Given the description of an element on the screen output the (x, y) to click on. 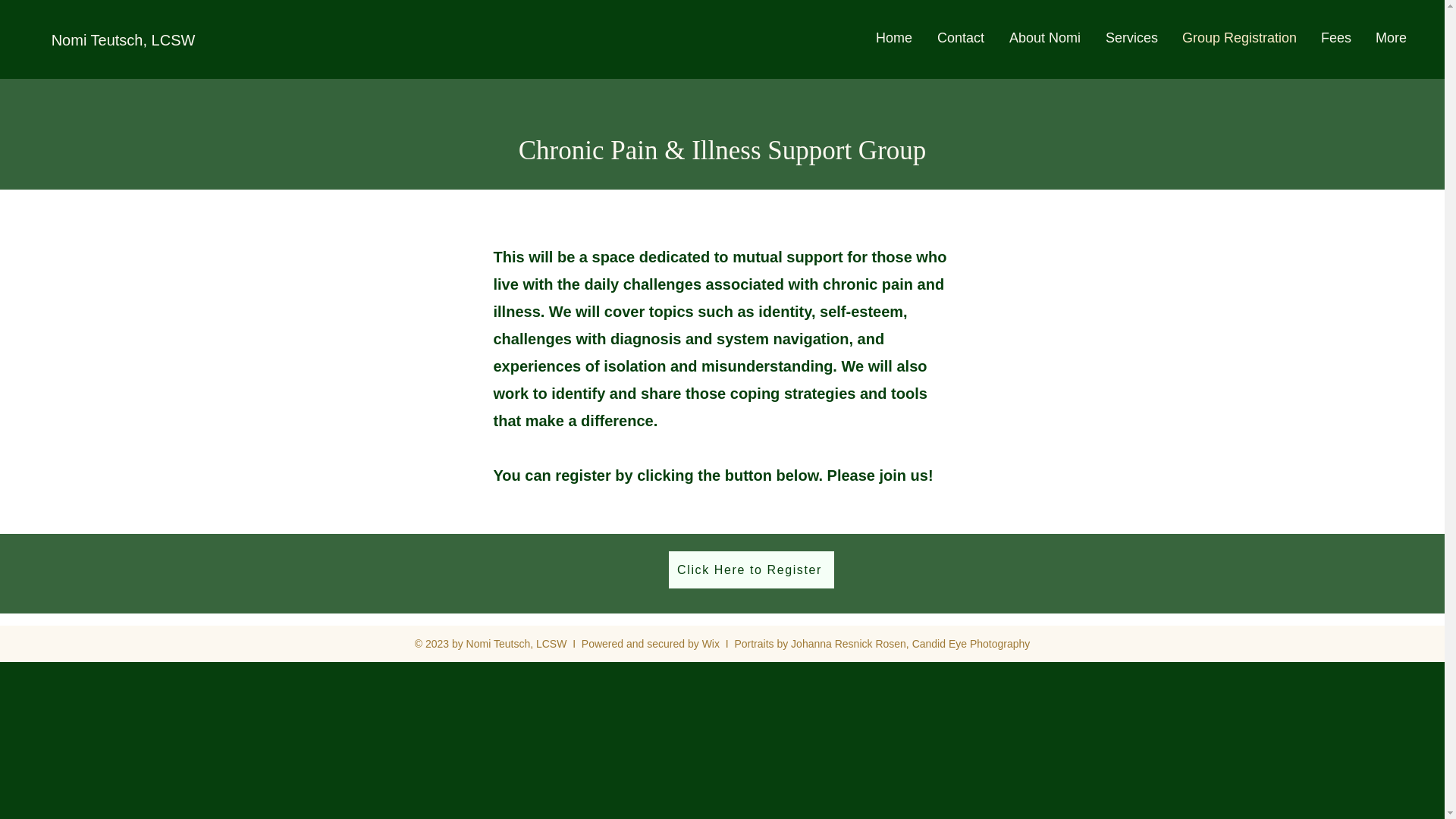
Contact (955, 37)
Fees (1331, 37)
Portraits by Johanna Resnick Rosen, Candid Eye Photography (881, 644)
Click Here to Register (751, 569)
Group Registration (1235, 37)
Wix (710, 644)
Nomi Teutsch, LCSW (123, 39)
Services (1126, 37)
About Nomi (1039, 37)
Home (889, 37)
